Given the description of an element on the screen output the (x, y) to click on. 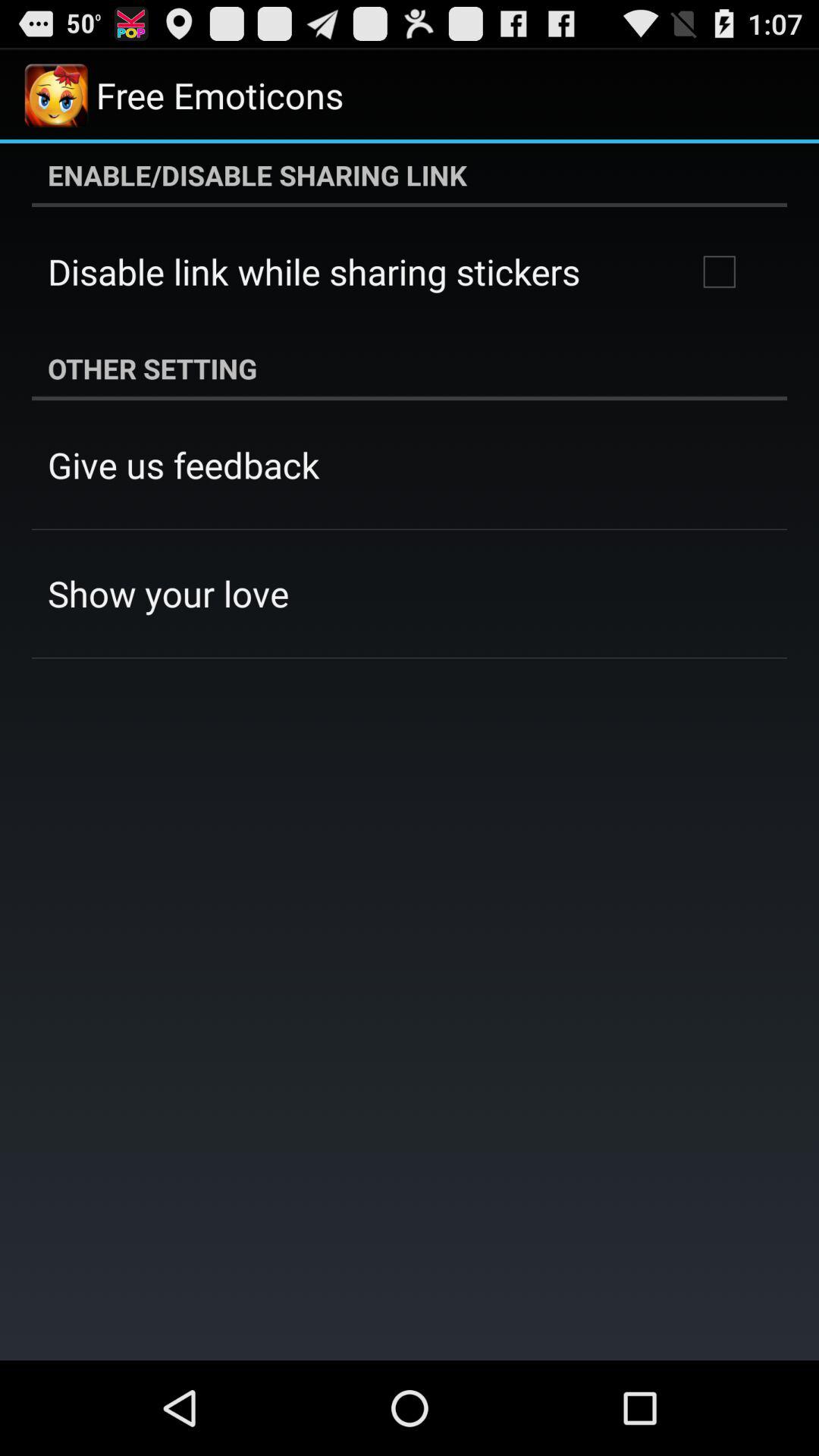
swipe to the show your love app (167, 593)
